Given the description of an element on the screen output the (x, y) to click on. 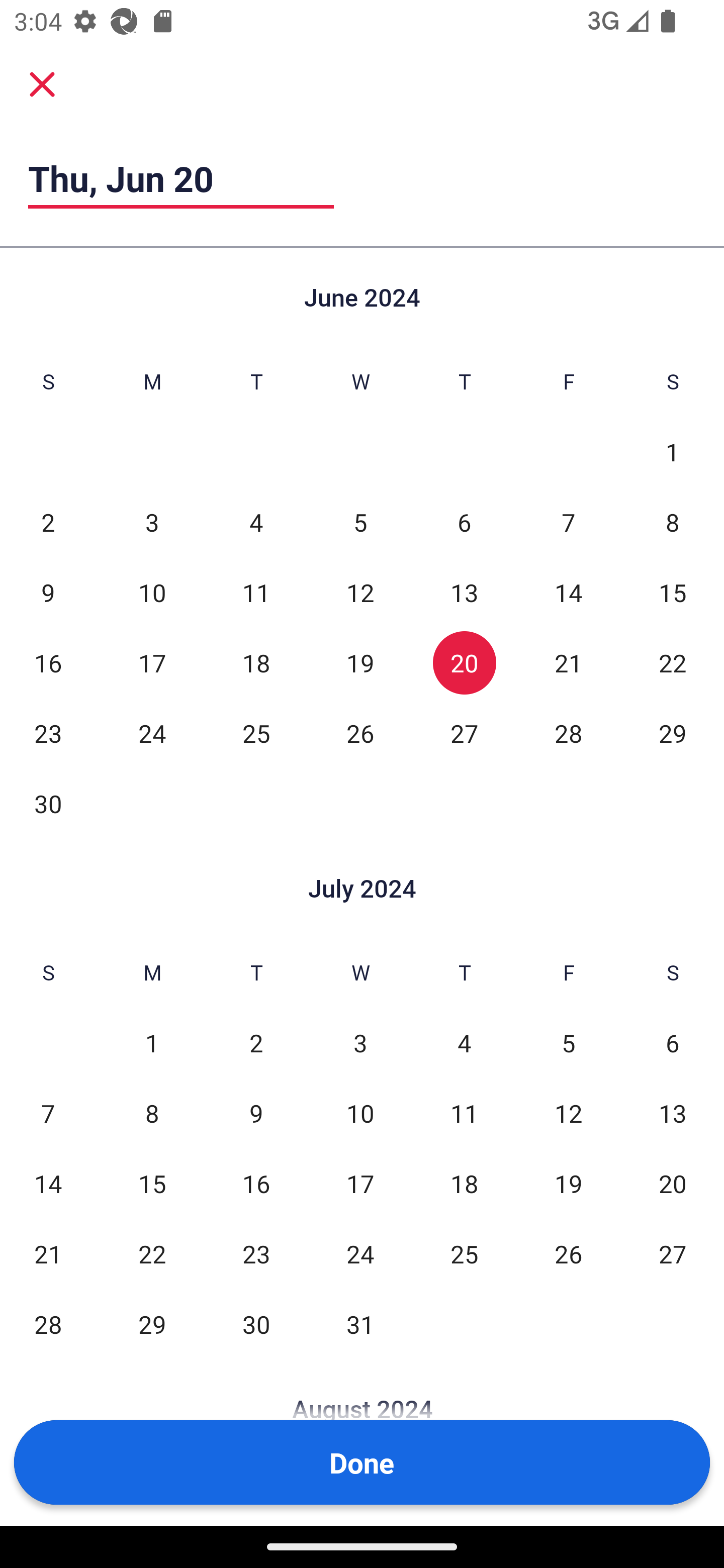
Cancel (41, 83)
Thu, Jun 20 (180, 178)
1 Sat, Jun 1, Not Selected (672, 452)
2 Sun, Jun 2, Not Selected (48, 521)
3 Mon, Jun 3, Not Selected (152, 521)
4 Tue, Jun 4, Not Selected (256, 521)
5 Wed, Jun 5, Not Selected (360, 521)
6 Thu, Jun 6, Not Selected (464, 521)
7 Fri, Jun 7, Not Selected (568, 521)
8 Sat, Jun 8, Not Selected (672, 521)
9 Sun, Jun 9, Not Selected (48, 591)
10 Mon, Jun 10, Not Selected (152, 591)
11 Tue, Jun 11, Not Selected (256, 591)
12 Wed, Jun 12, Not Selected (360, 591)
13 Thu, Jun 13, Not Selected (464, 591)
14 Fri, Jun 14, Not Selected (568, 591)
15 Sat, Jun 15, Not Selected (672, 591)
16 Sun, Jun 16, Not Selected (48, 662)
17 Mon, Jun 17, Not Selected (152, 662)
18 Tue, Jun 18, Not Selected (256, 662)
19 Wed, Jun 19, Not Selected (360, 662)
20 Thu, Jun 20, Selected (464, 662)
21 Fri, Jun 21, Not Selected (568, 662)
22 Sat, Jun 22, Not Selected (672, 662)
23 Sun, Jun 23, Not Selected (48, 732)
24 Mon, Jun 24, Not Selected (152, 732)
25 Tue, Jun 25, Not Selected (256, 732)
26 Wed, Jun 26, Not Selected (360, 732)
27 Thu, Jun 27, Not Selected (464, 732)
28 Fri, Jun 28, Not Selected (568, 732)
29 Sat, Jun 29, Not Selected (672, 732)
30 Sun, Jun 30, Not Selected (48, 803)
1 Mon, Jul 1, Not Selected (152, 1043)
2 Tue, Jul 2, Not Selected (256, 1043)
3 Wed, Jul 3, Not Selected (360, 1043)
4 Thu, Jul 4, Not Selected (464, 1043)
5 Fri, Jul 5, Not Selected (568, 1043)
6 Sat, Jul 6, Not Selected (672, 1043)
7 Sun, Jul 7, Not Selected (48, 1112)
8 Mon, Jul 8, Not Selected (152, 1112)
9 Tue, Jul 9, Not Selected (256, 1112)
10 Wed, Jul 10, Not Selected (360, 1112)
11 Thu, Jul 11, Not Selected (464, 1112)
12 Fri, Jul 12, Not Selected (568, 1112)
13 Sat, Jul 13, Not Selected (672, 1112)
14 Sun, Jul 14, Not Selected (48, 1182)
15 Mon, Jul 15, Not Selected (152, 1182)
16 Tue, Jul 16, Not Selected (256, 1182)
17 Wed, Jul 17, Not Selected (360, 1182)
18 Thu, Jul 18, Not Selected (464, 1182)
19 Fri, Jul 19, Not Selected (568, 1182)
20 Sat, Jul 20, Not Selected (672, 1182)
21 Sun, Jul 21, Not Selected (48, 1253)
22 Mon, Jul 22, Not Selected (152, 1253)
23 Tue, Jul 23, Not Selected (256, 1253)
24 Wed, Jul 24, Not Selected (360, 1253)
25 Thu, Jul 25, Not Selected (464, 1253)
26 Fri, Jul 26, Not Selected (568, 1253)
27 Sat, Jul 27, Not Selected (672, 1253)
28 Sun, Jul 28, Not Selected (48, 1323)
29 Mon, Jul 29, Not Selected (152, 1323)
30 Tue, Jul 30, Not Selected (256, 1323)
31 Wed, Jul 31, Not Selected (360, 1323)
Done Button Done (361, 1462)
